Given the description of an element on the screen output the (x, y) to click on. 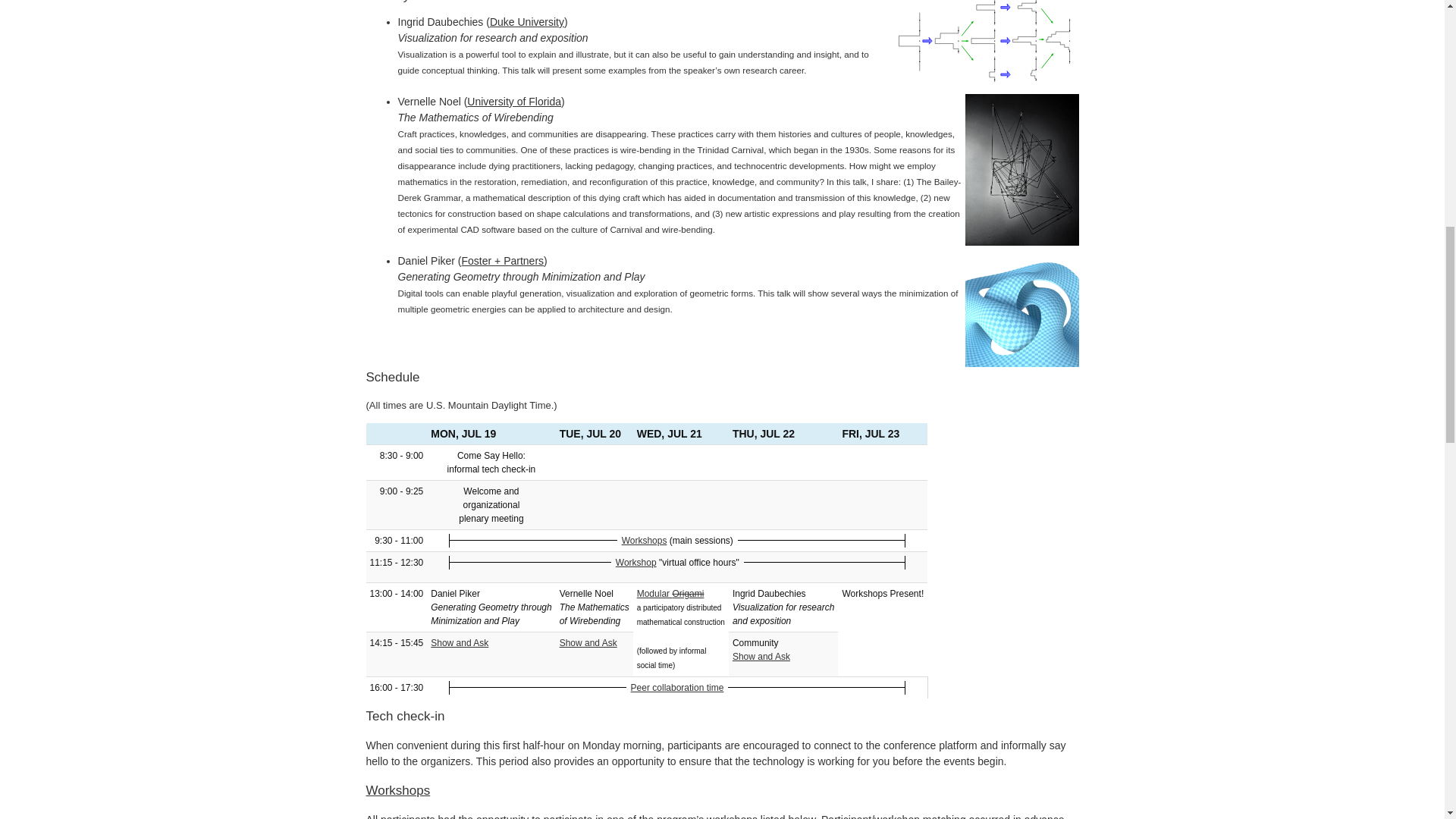
Workshop (635, 561)
University of Florida (513, 101)
Show and Ask (588, 643)
Workshops (643, 540)
Modular Origami (670, 593)
Show and Ask (761, 656)
Duke University (526, 21)
Show and Ask (458, 643)
Workshops (397, 789)
Peer collaboration time (676, 687)
